Given the description of an element on the screen output the (x, y) to click on. 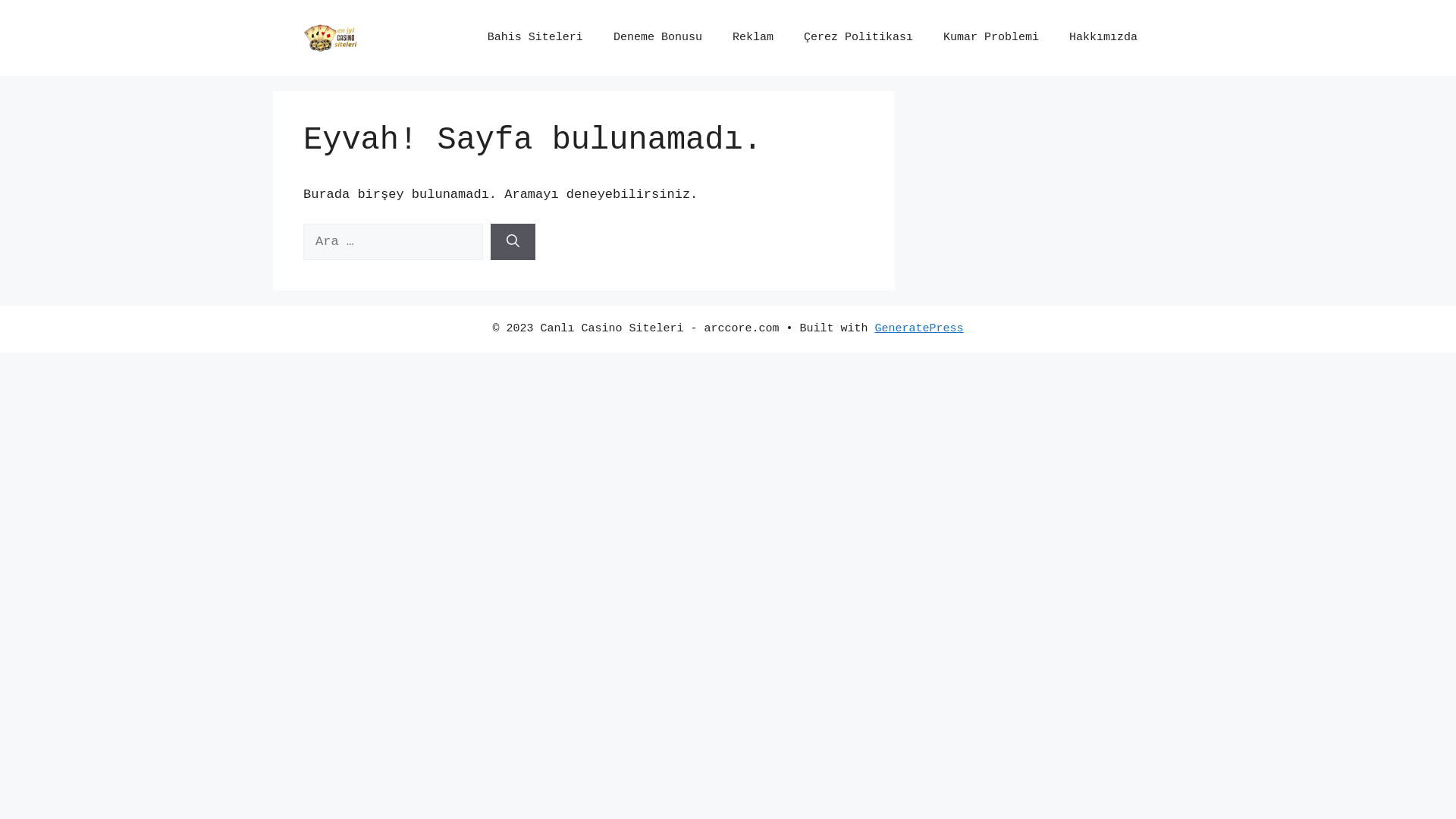
Kumar Problemi Element type: text (991, 37)
Bahis Siteleri Element type: text (535, 37)
GeneratePress Element type: text (919, 328)
Reklam Element type: text (752, 37)
Deneme Bonusu Element type: text (657, 37)
